Given the description of an element on the screen output the (x, y) to click on. 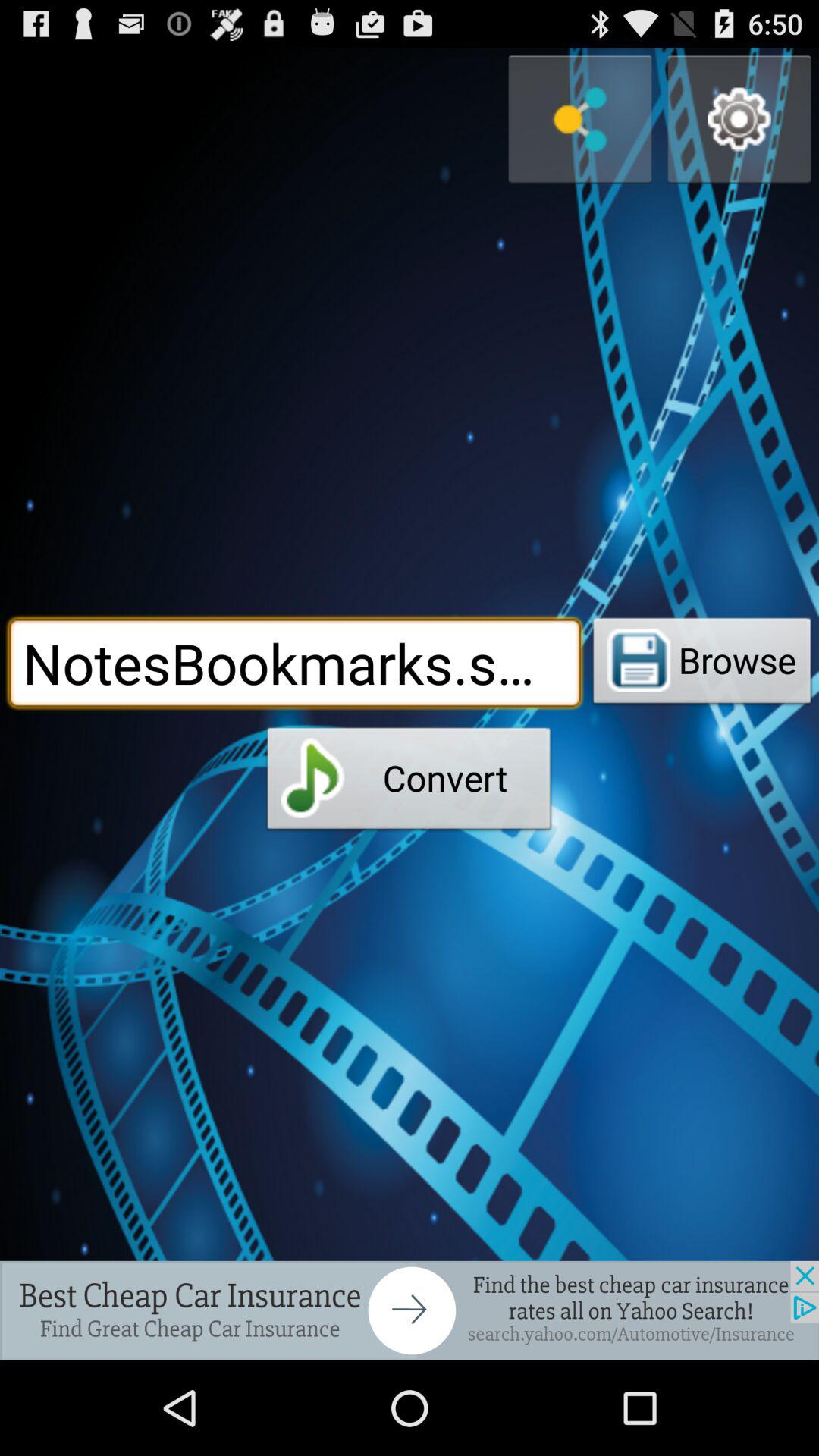
settings (739, 119)
